Given the description of an element on the screen output the (x, y) to click on. 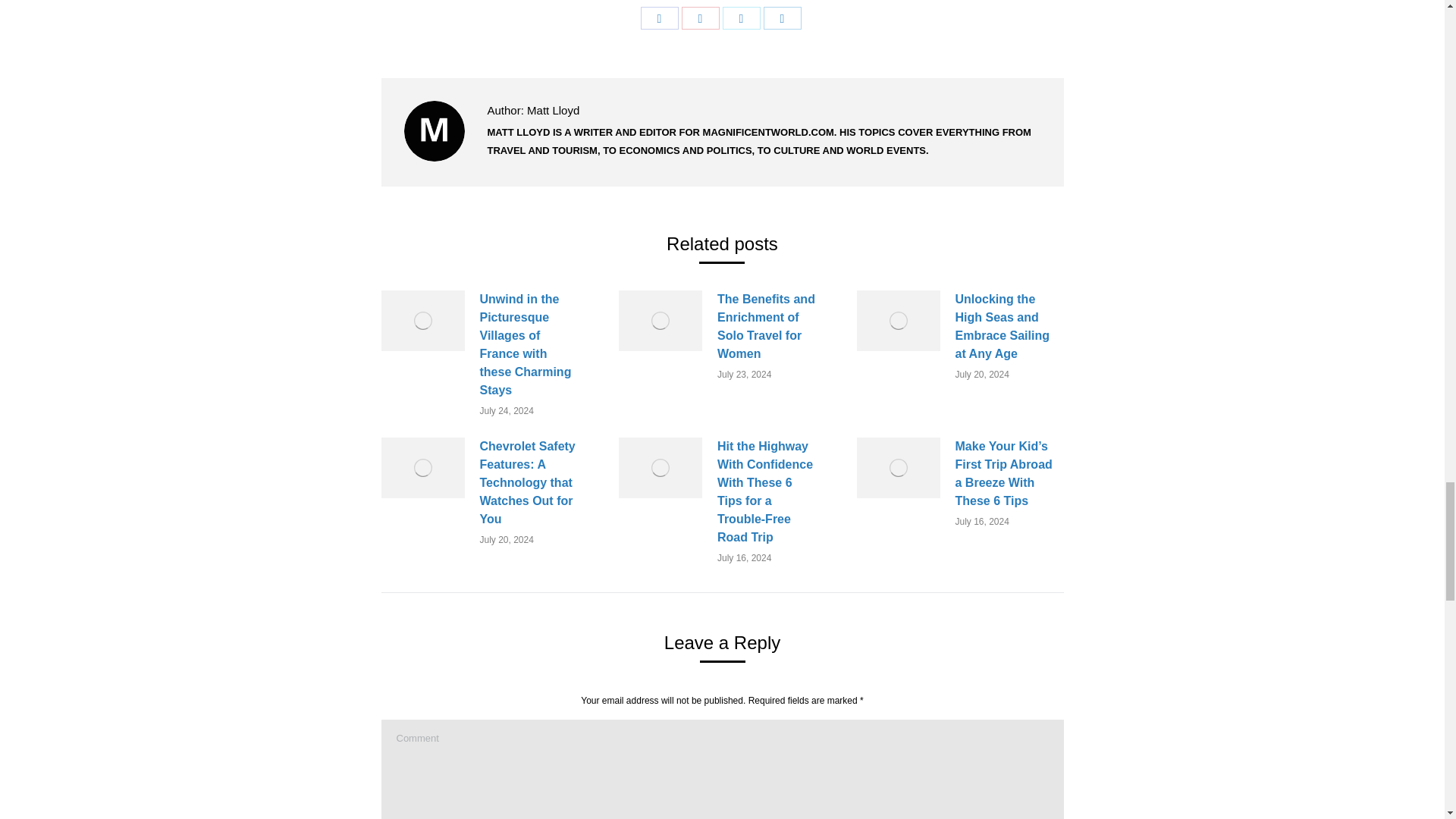
Share on Facebook (659, 17)
Pinterest (700, 17)
Twitter (741, 17)
Unlocking the High Seas and Embrace Sailing at Any Age (1006, 326)
LinkedIn (781, 17)
The Benefits and Enrichment of Solo Travel for Women (767, 326)
Share on Pinterest (700, 17)
Facebook (659, 17)
Share on LinkedIn (781, 17)
Share on Twitter (741, 17)
